Given the description of an element on the screen output the (x, y) to click on. 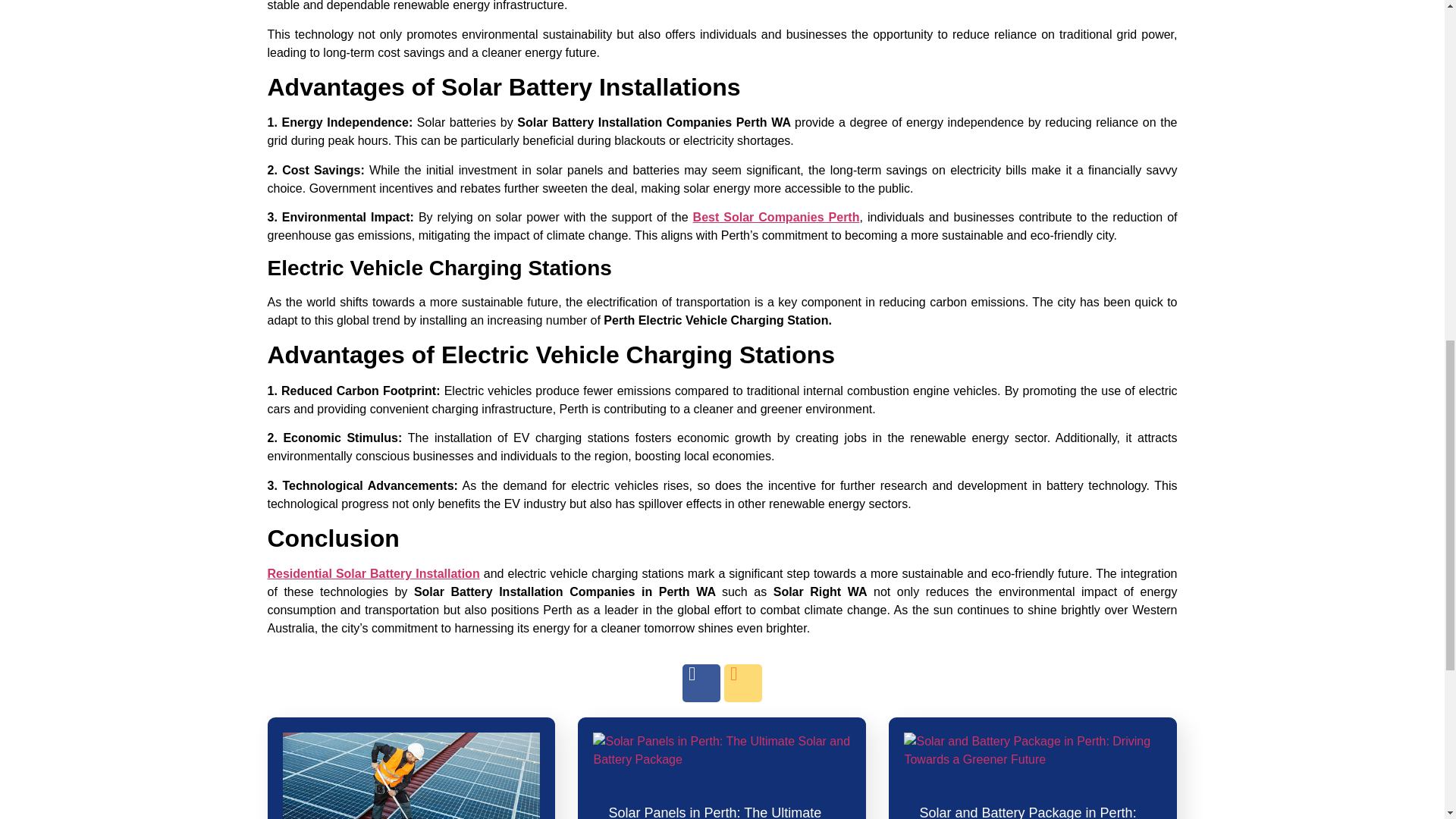
Best Solar Companies Perth (776, 216)
Residential Solar Battery Installation (372, 573)
